Given the description of an element on the screen output the (x, y) to click on. 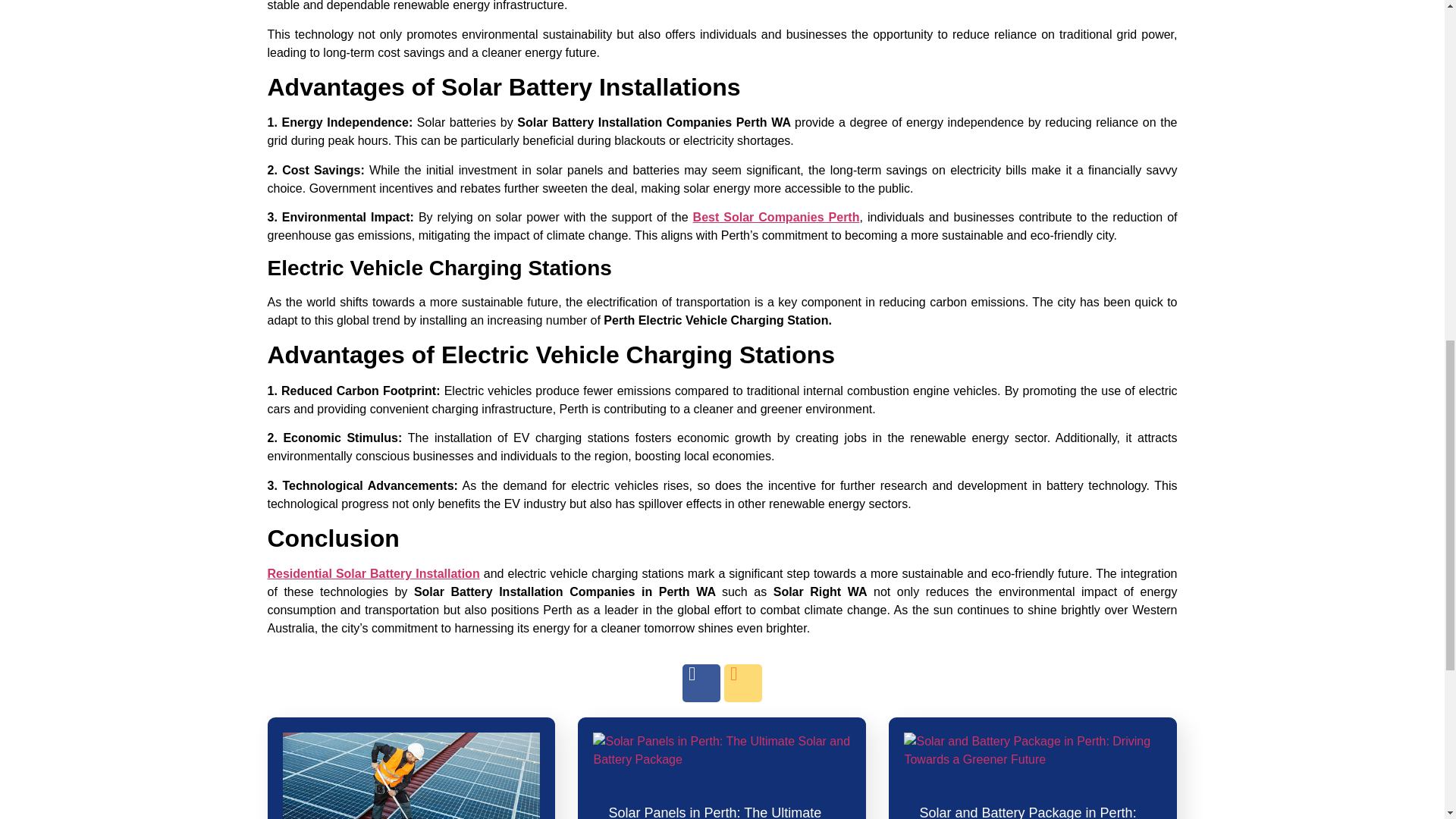
Best Solar Companies Perth (776, 216)
Residential Solar Battery Installation (372, 573)
